Given the description of an element on the screen output the (x, y) to click on. 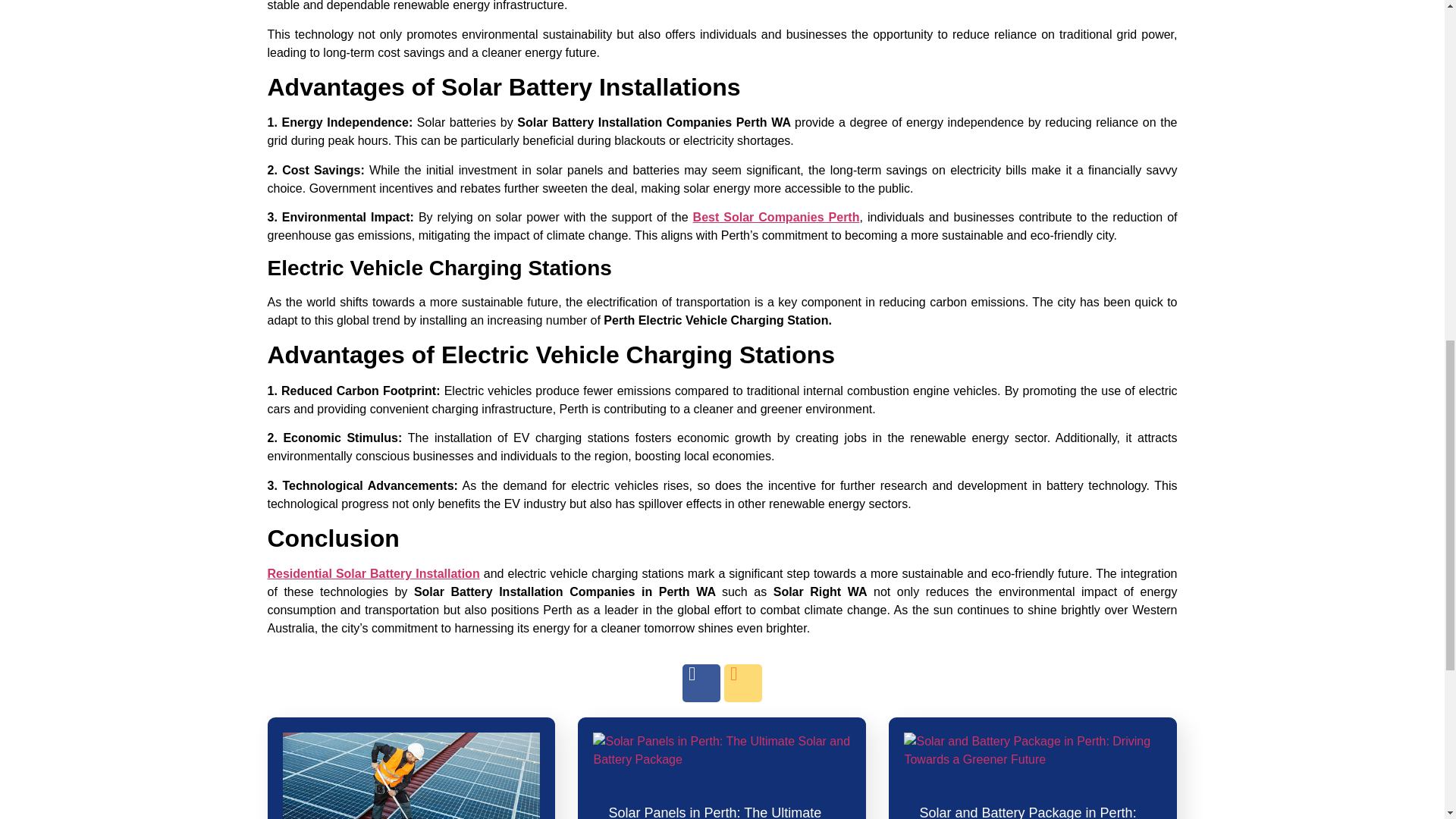
Best Solar Companies Perth (776, 216)
Residential Solar Battery Installation (372, 573)
